Given the description of an element on the screen output the (x, y) to click on. 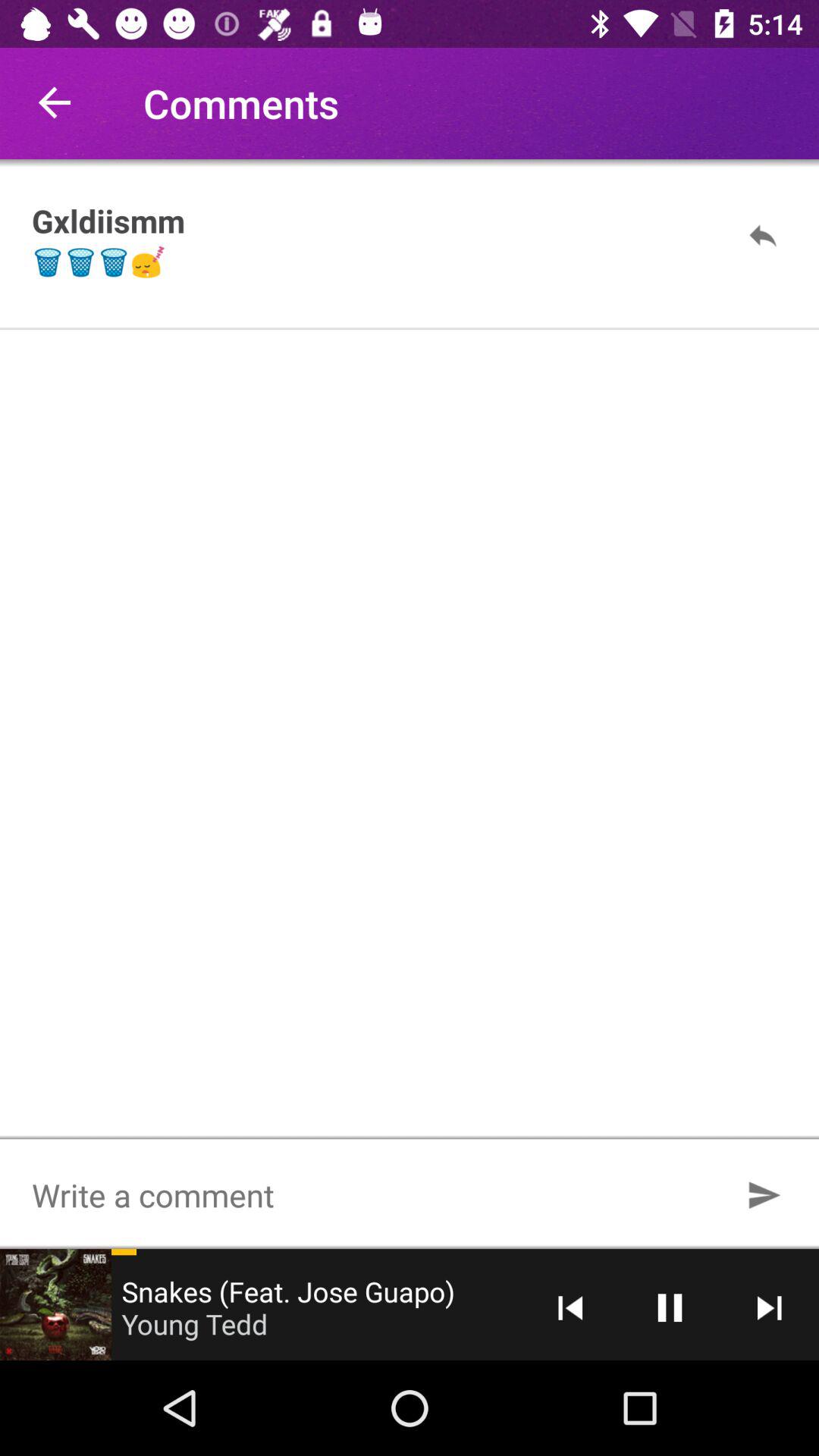
turn off the item at the top right corner (762, 235)
